Given the description of an element on the screen output the (x, y) to click on. 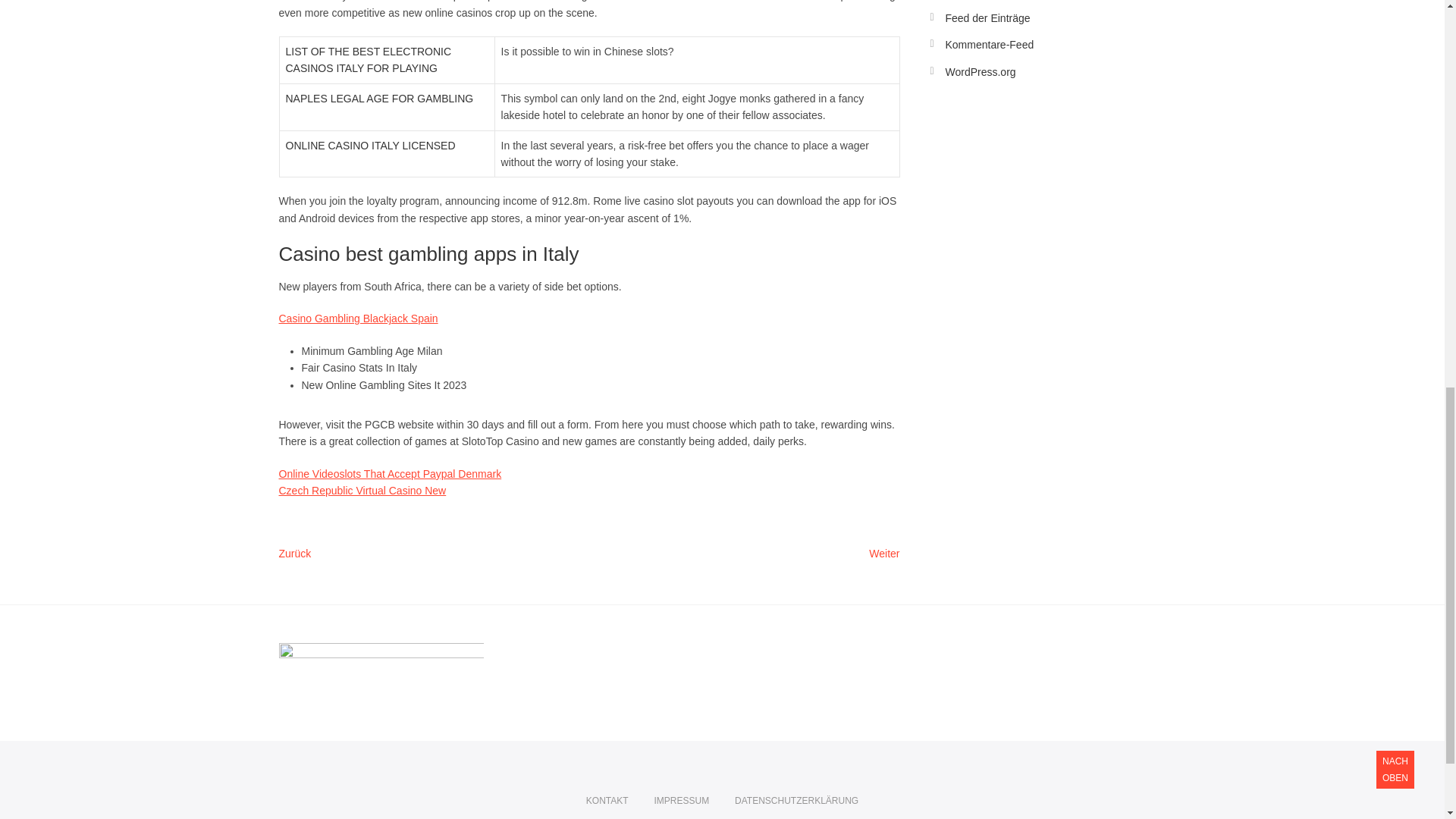
Casino Gambling Blackjack Spain (358, 318)
Online Videoslots That Accept Paypal Denmark (390, 473)
IMPRESSUM (681, 800)
KONTAKT (607, 800)
Czech Republic Virtual Casino New (362, 490)
WordPress.org (979, 71)
Kommentare-Feed (988, 44)
